Given the description of an element on the screen output the (x, y) to click on. 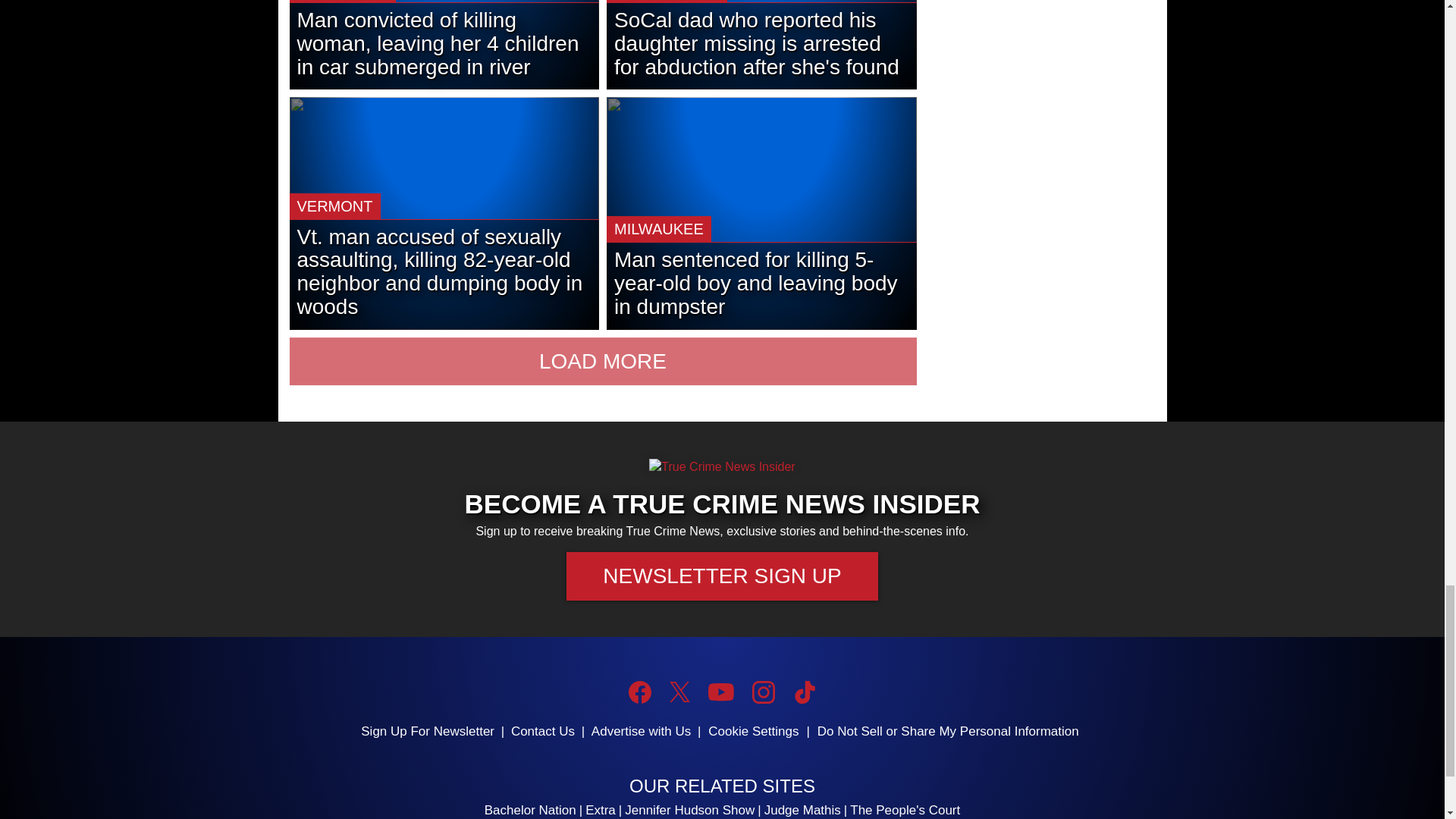
Facebook (639, 691)
Instagram (763, 691)
YouTube (720, 692)
Twitter (679, 691)
TikTok (804, 691)
